Given the description of an element on the screen output the (x, y) to click on. 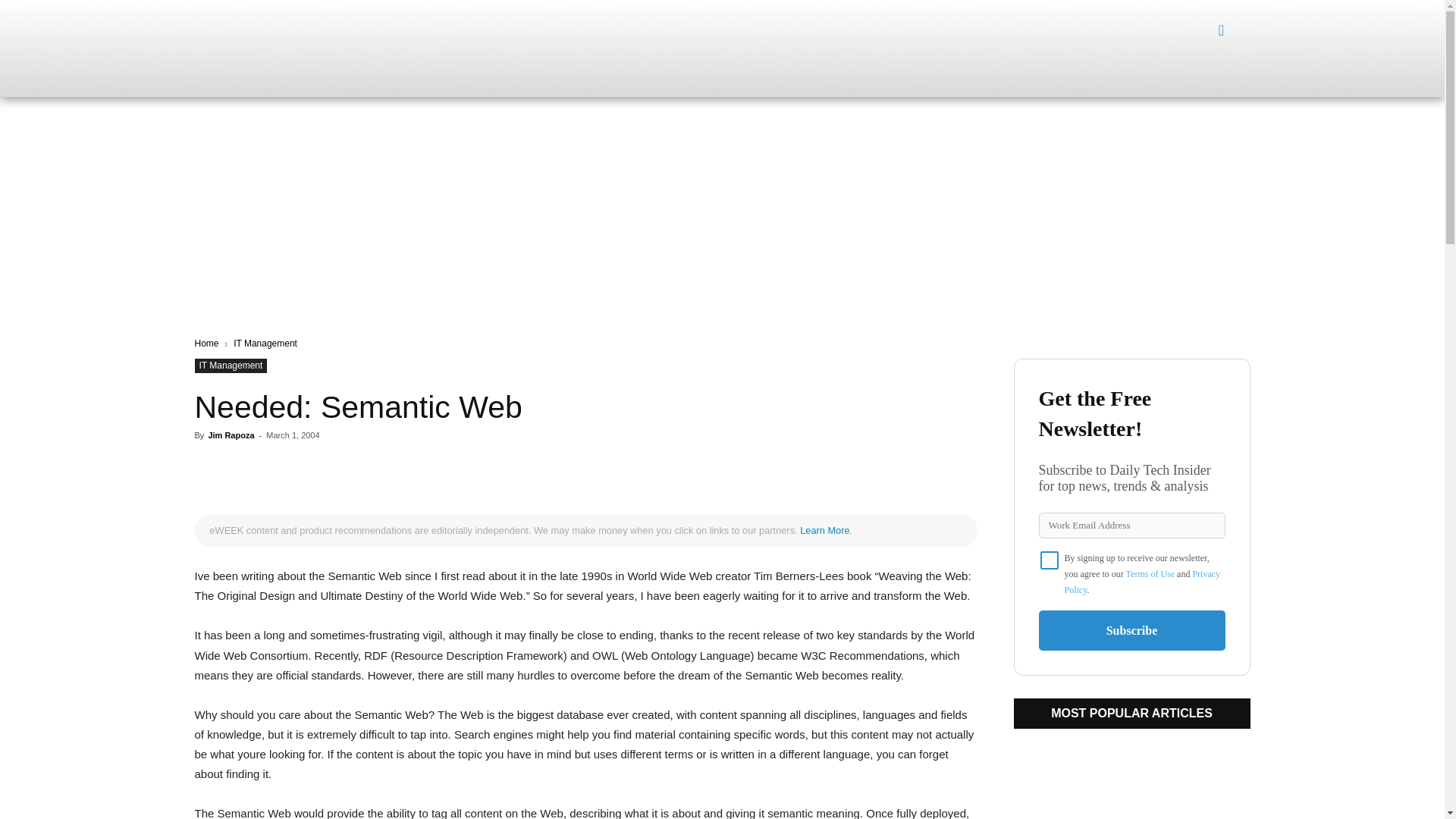
on (1049, 560)
